Given the description of an element on the screen output the (x, y) to click on. 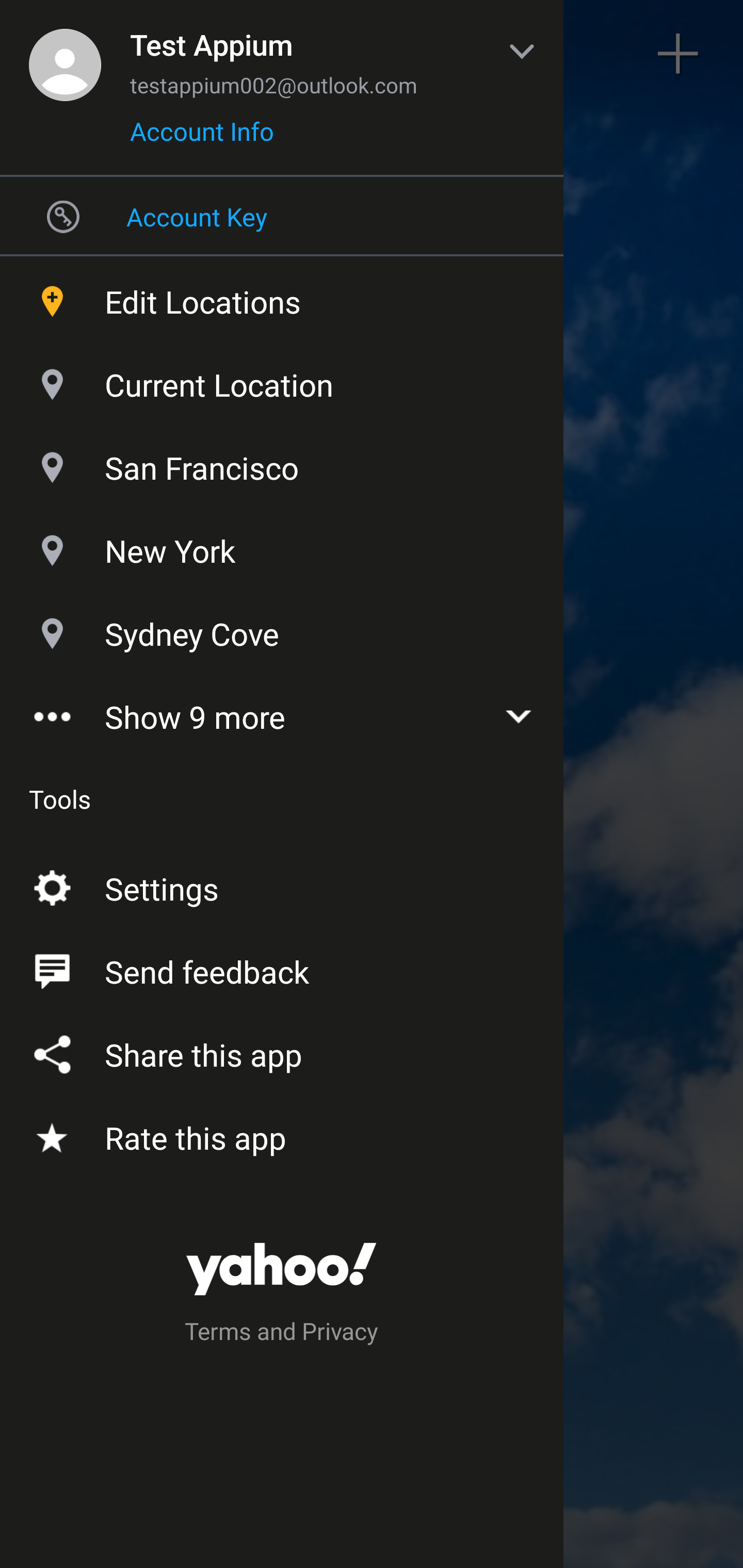
Sidebar (64, 54)
Account Info (202, 137)
Account Key (281, 216)
Edit Locations (281, 296)
Current Location (281, 379)
San Francisco (281, 462)
New York (281, 546)
Sydney Cove (281, 629)
Settings (281, 884)
Send feedback (281, 967)
Share this app (281, 1050)
Terms and Privacy Terms and privacy button (281, 1334)
